Given the description of an element on the screen output the (x, y) to click on. 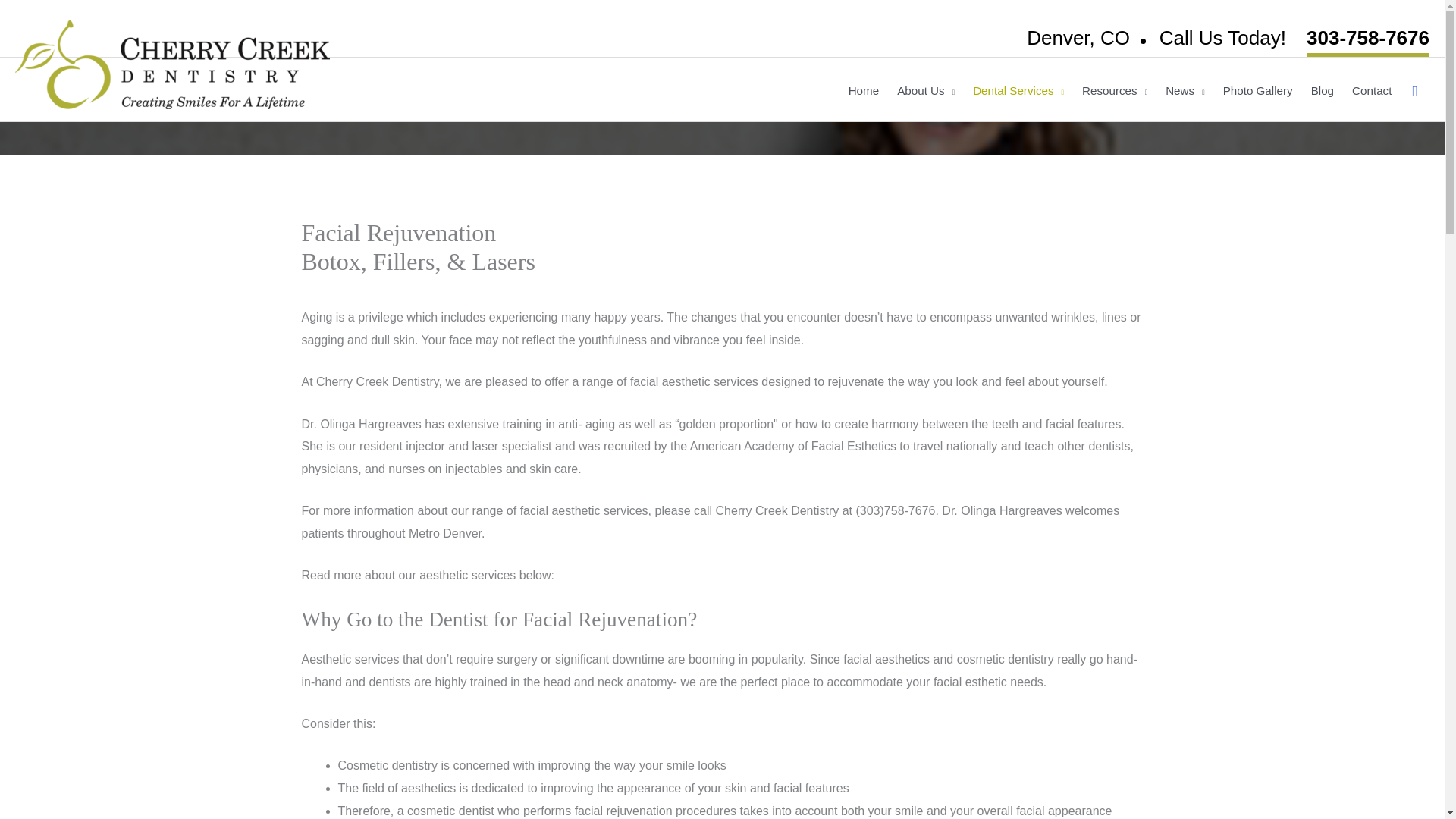
News (1185, 91)
Denver, CO (1077, 37)
303-758-7676 (1367, 39)
Contact (1371, 91)
About Us (925, 91)
Dental Services (1018, 91)
Resources (1114, 91)
Photo Gallery (1257, 91)
